Given the description of an element on the screen output the (x, y) to click on. 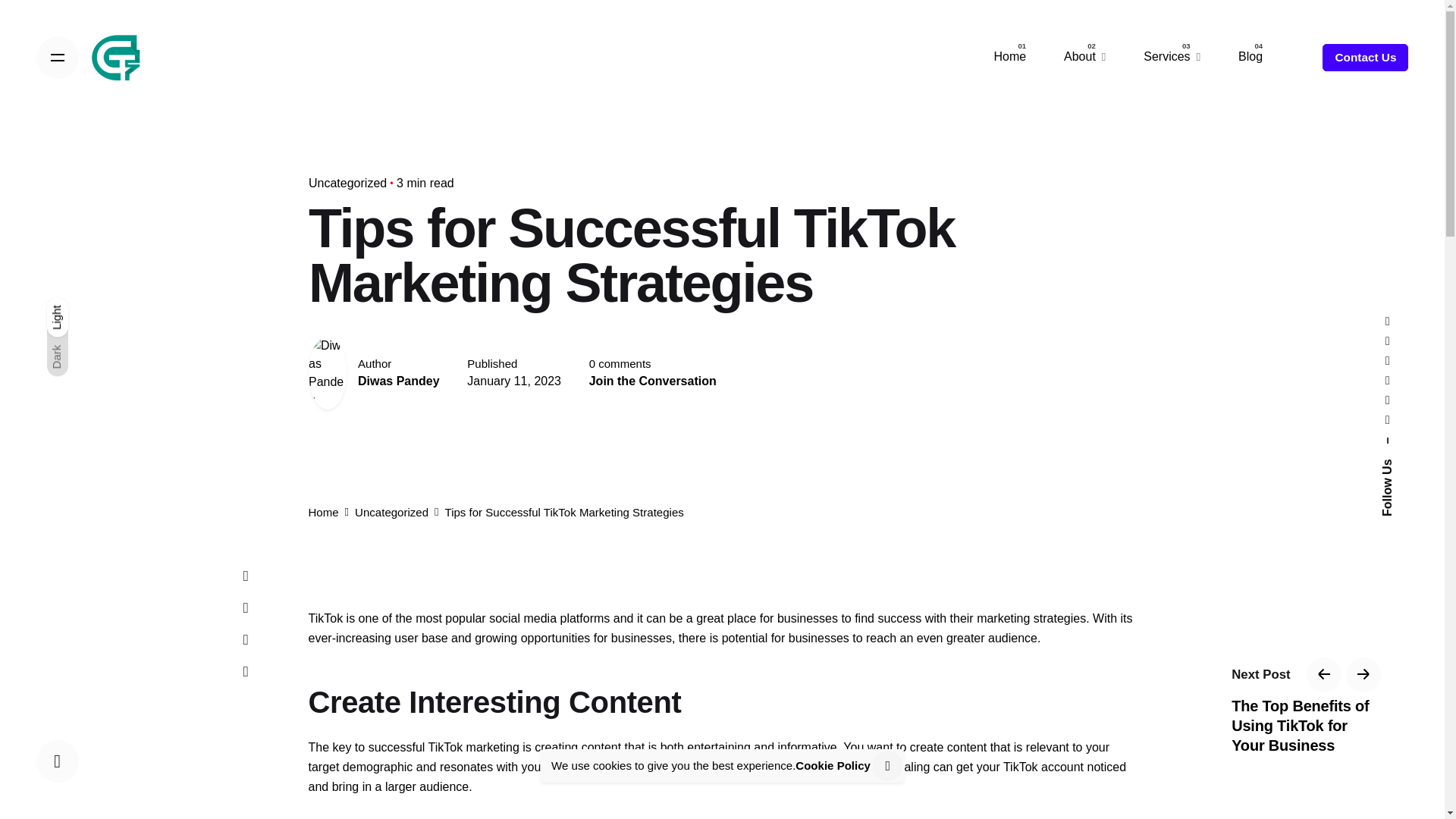
Blog (1250, 57)
Home (1010, 57)
Services (1172, 57)
About (1084, 57)
Contact Us (1364, 57)
